Given the description of an element on the screen output the (x, y) to click on. 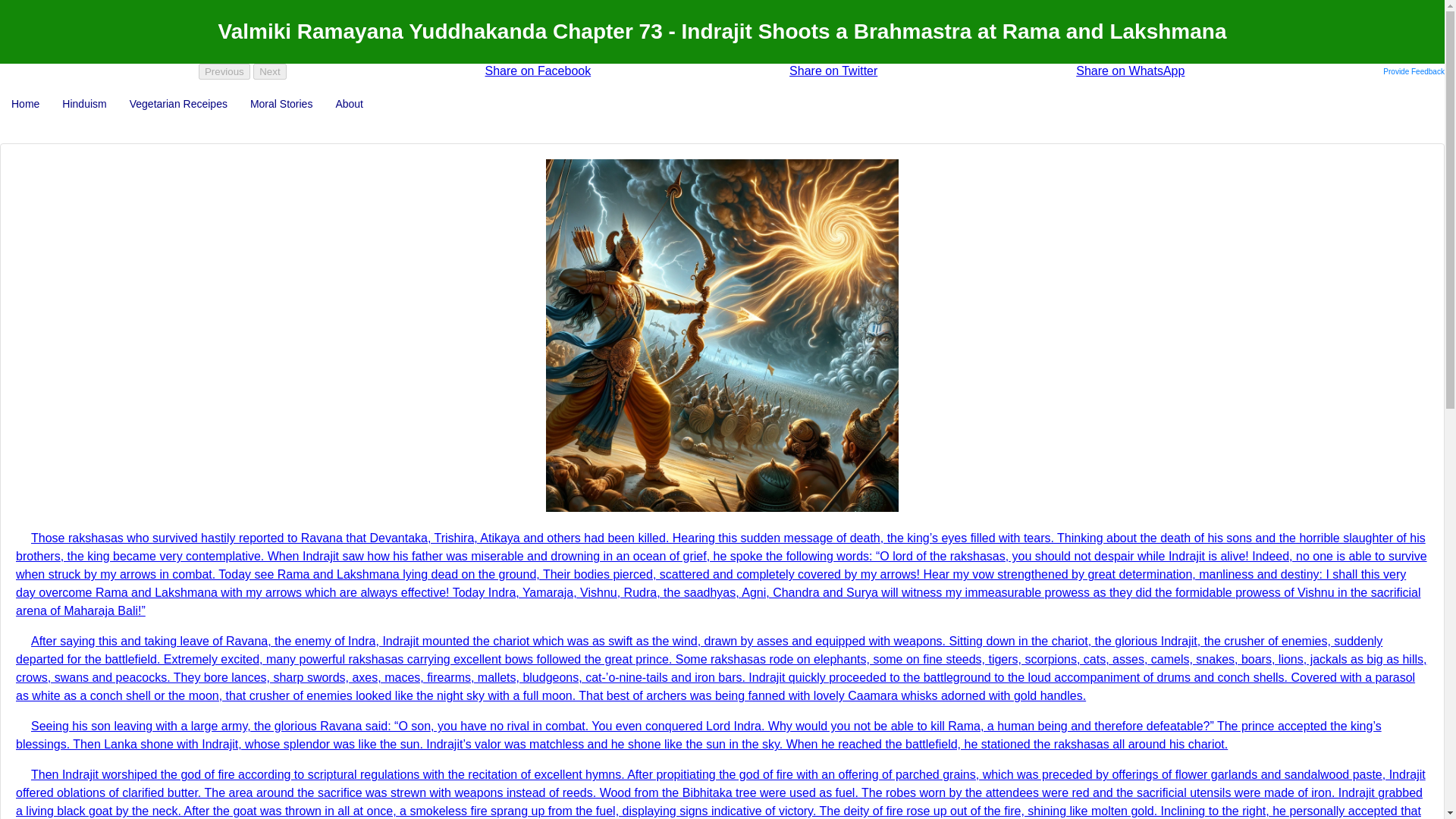
Moral Stories (280, 103)
Previous (224, 71)
Share on WhatsApp (1130, 70)
Share on Twitter (833, 70)
Home (25, 103)
About (348, 103)
Vegetarian Receipes (177, 103)
Hinduism (83, 103)
Share on Facebook (537, 70)
Next (269, 71)
